Given the description of an element on the screen output the (x, y) to click on. 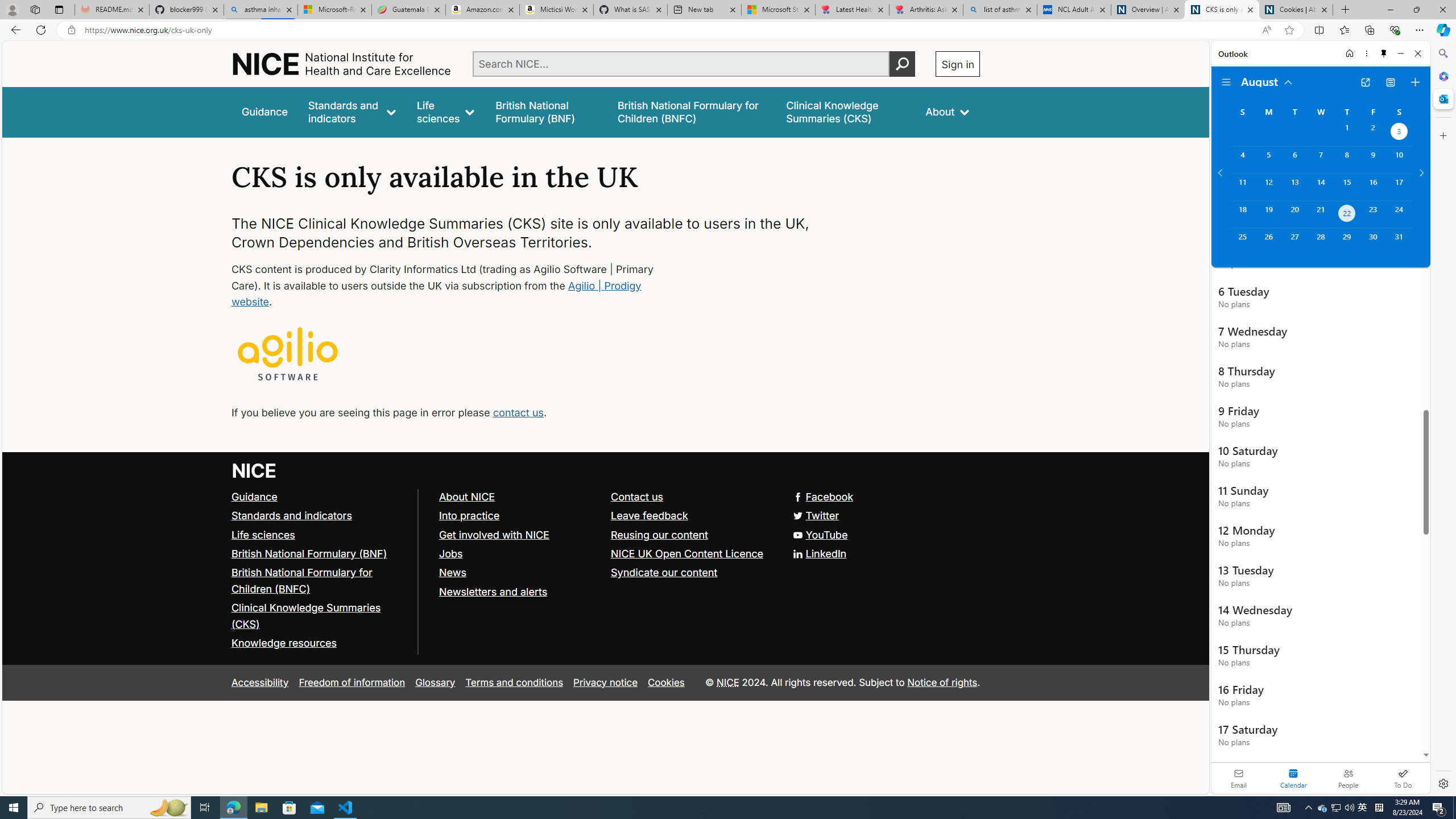
Get involved with NICE (518, 534)
Knowledge resources (319, 643)
Monday, August 26, 2024.  (1268, 241)
Tuesday, August 20, 2024.  (1294, 214)
Email (1238, 777)
Friday, August 16, 2024.  (1372, 186)
Open in new tab (1365, 82)
Unpin side pane (1383, 53)
About (947, 111)
Freedom of information (352, 682)
Friday, August 2, 2024.  (1372, 132)
Reusing our content (659, 534)
Get involved with NICE (493, 534)
